Given the description of an element on the screen output the (x, y) to click on. 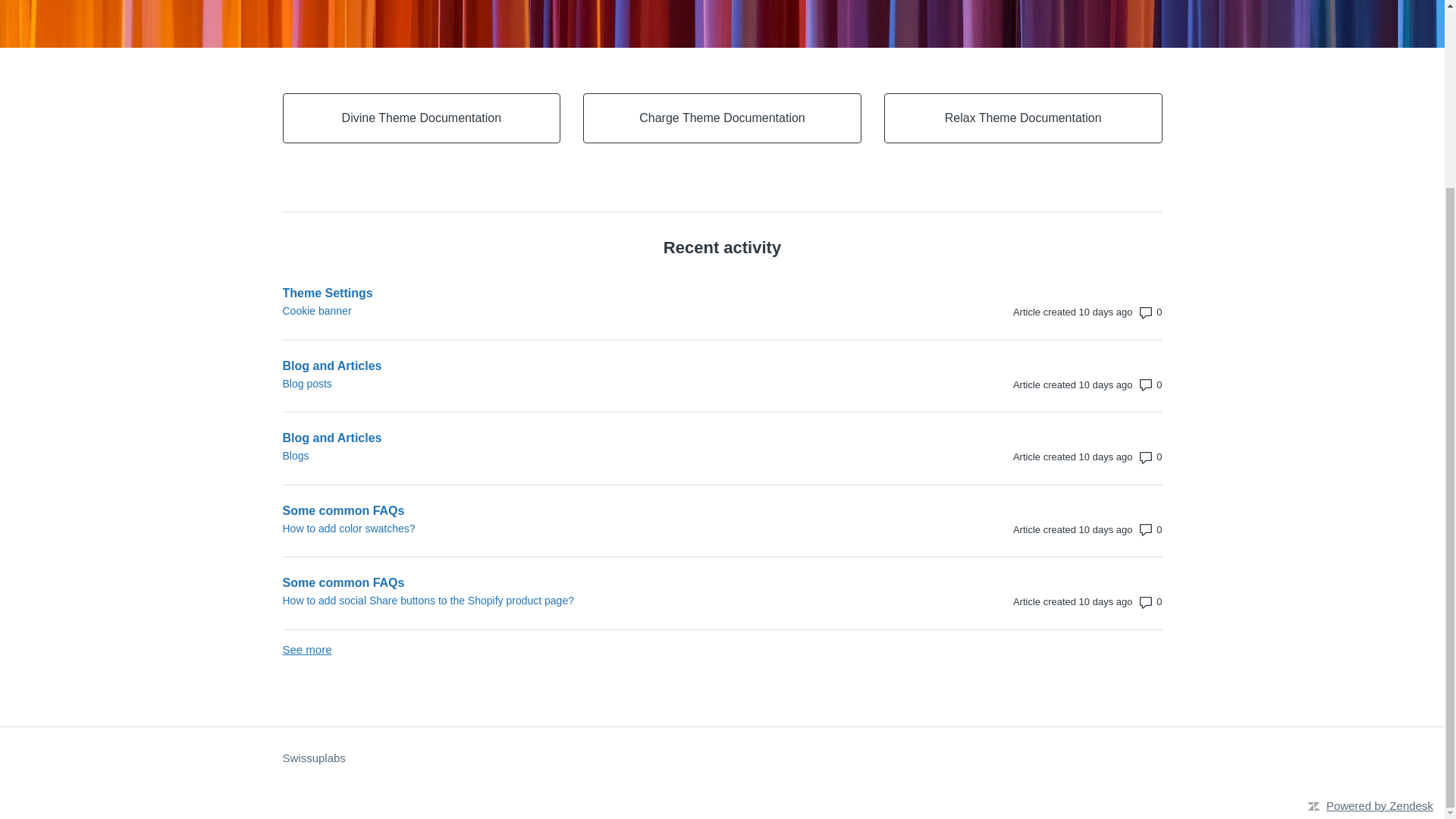
How to add color swatches? (590, 528)
Blog and Articles (590, 365)
Charge Theme Documentation (721, 118)
Relax Theme Documentation (1023, 118)
Some common FAQs (590, 583)
Blog posts (590, 383)
Divine Theme Documentation (421, 118)
Blog and Articles (590, 438)
How to add social Share buttons to the Shopify product page? (590, 600)
Blogs (590, 455)
